Given the description of an element on the screen output the (x, y) to click on. 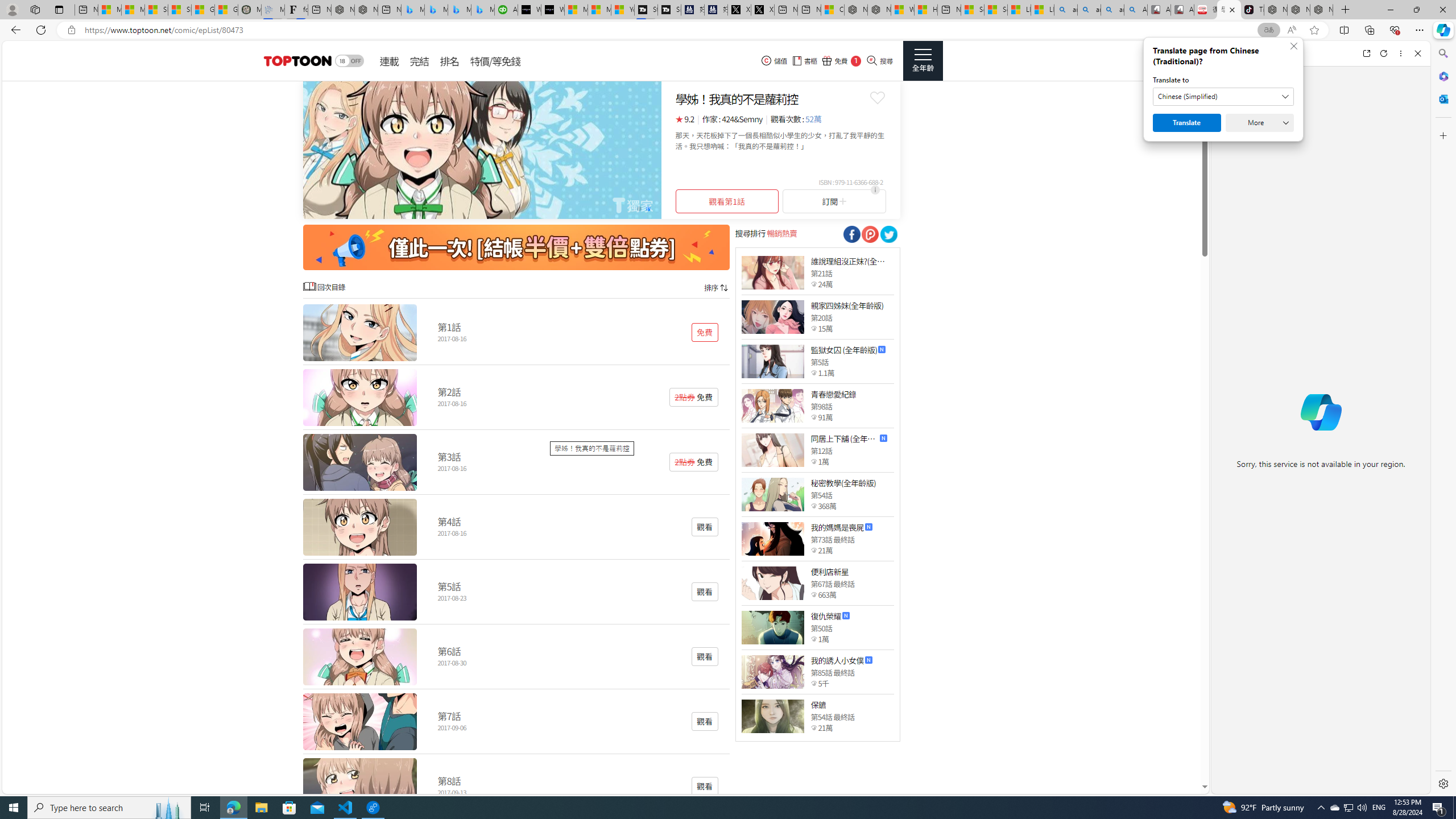
TikTok (1252, 9)
